Given the description of an element on the screen output the (x, y) to click on. 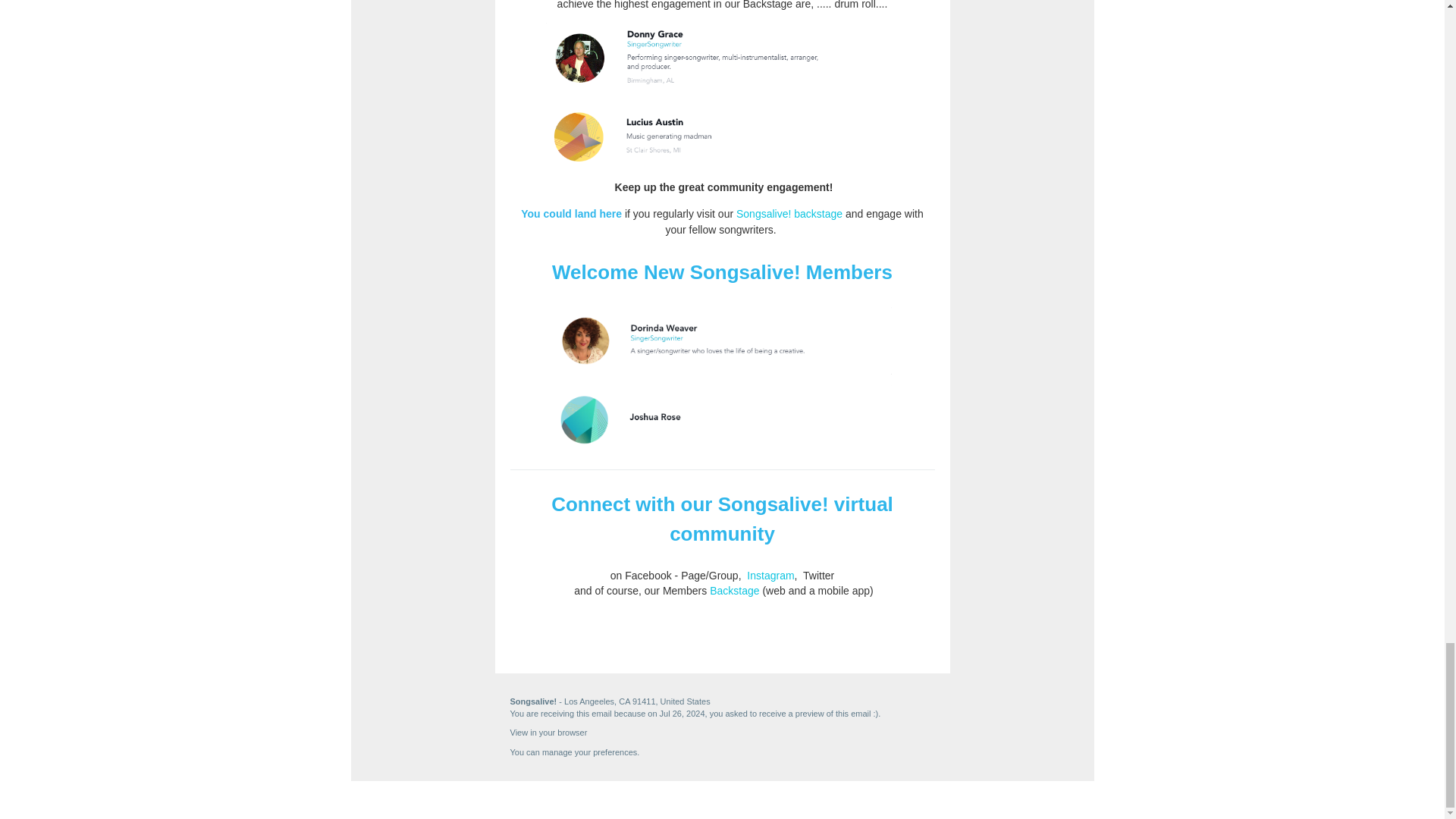
Songsalive! backstage (789, 214)
Backstage (734, 590)
manage your preferences (589, 750)
Instagram (769, 575)
View in your browser (547, 732)
